Given the description of an element on the screen output the (x, y) to click on. 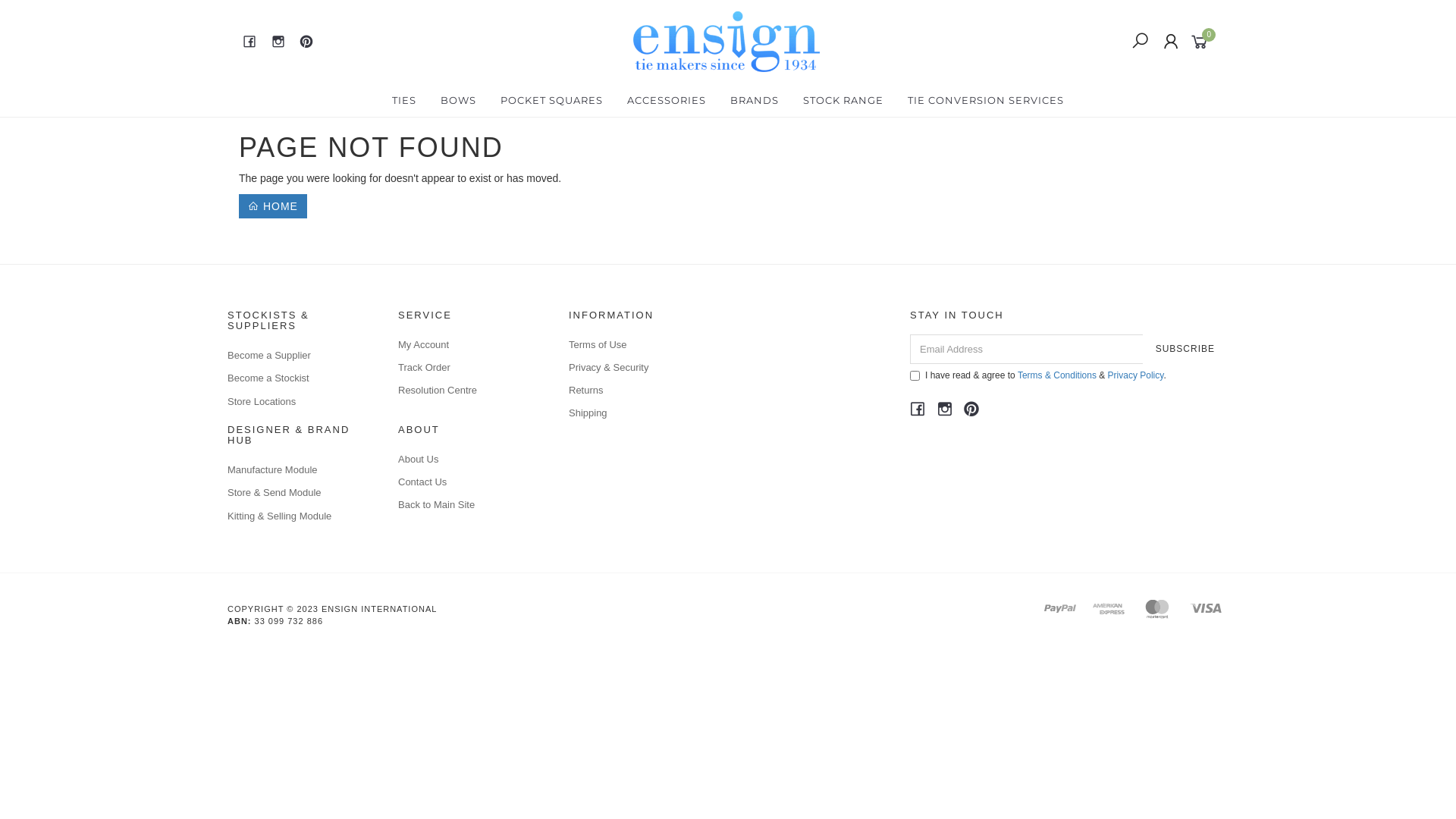
POCKET SQUARES Element type: text (551, 99)
Terms of Use Element type: text (636, 344)
STOCK RANGE Element type: text (843, 99)
HOME Element type: text (272, 206)
Back to Main Site Element type: text (466, 504)
Resolution Centre Element type: text (466, 390)
TIES Element type: text (403, 99)
Privacy Policy Element type: text (1135, 375)
Returns Element type: text (636, 390)
Track Order Element type: text (466, 367)
Shipping Element type: text (636, 412)
Become a Supplier Element type: text (295, 355)
Store Locations Element type: text (295, 401)
Terms & Conditions Element type: text (1056, 375)
BOWS Element type: text (458, 99)
Subscribe Element type: text (1185, 349)
Contact Us Element type: text (466, 481)
My Account Element type: text (466, 344)
ACCESSORIES Element type: text (666, 99)
BRANDS Element type: text (754, 99)
Manufacture Module Element type: text (295, 469)
Store & Send Module Element type: text (295, 492)
Privacy & Security Element type: text (636, 367)
0 Element type: text (1202, 40)
About Us Element type: text (466, 459)
TIE CONVERSION SERVICES Element type: text (985, 99)
Ensign International Element type: hover (726, 40)
Become a Stockist Element type: text (295, 378)
Kitting & Selling Module Element type: text (295, 516)
